Given the description of an element on the screen output the (x, y) to click on. 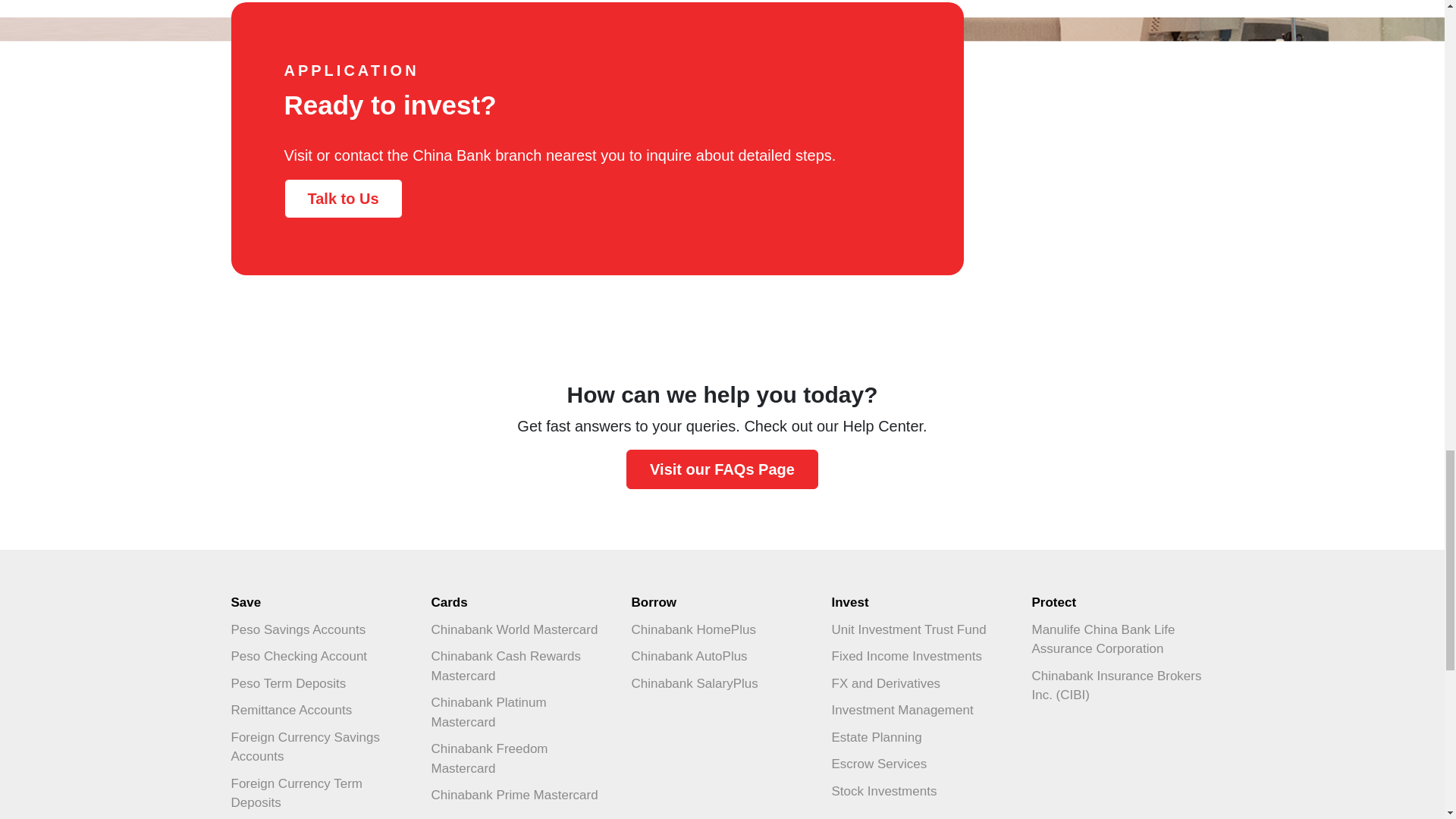
Remittance Accounts (321, 709)
Save (321, 601)
Foreign Currency Term Deposits (321, 793)
Peso Savings Accounts (321, 629)
Peso Term Deposits (321, 683)
Peso Checking Account (321, 656)
Talk to Us (342, 198)
Foreign Currency Savings Accounts (321, 746)
Visit our FAQs Page (722, 468)
